Given the description of an element on the screen output the (x, y) to click on. 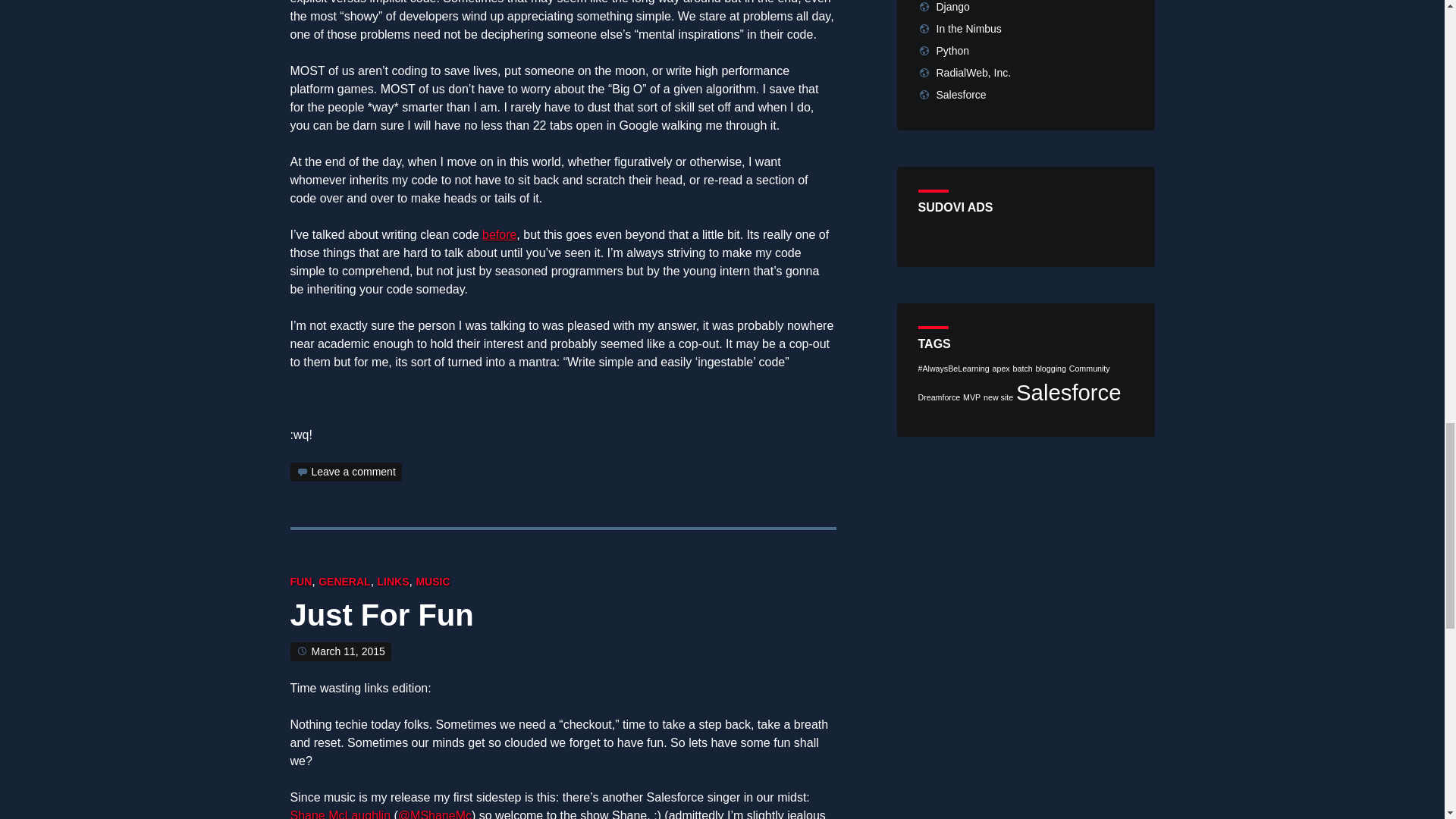
Shane McLaughlin (339, 814)
Shane McLaughlin on Twitter (434, 814)
FUN (300, 581)
GENERAL (343, 581)
MUSIC (431, 581)
5 Tips for Readable Code (498, 234)
Just For Fun (381, 619)
before (498, 234)
LINKS (393, 581)
Leave a comment (352, 471)
